Given the description of an element on the screen output the (x, y) to click on. 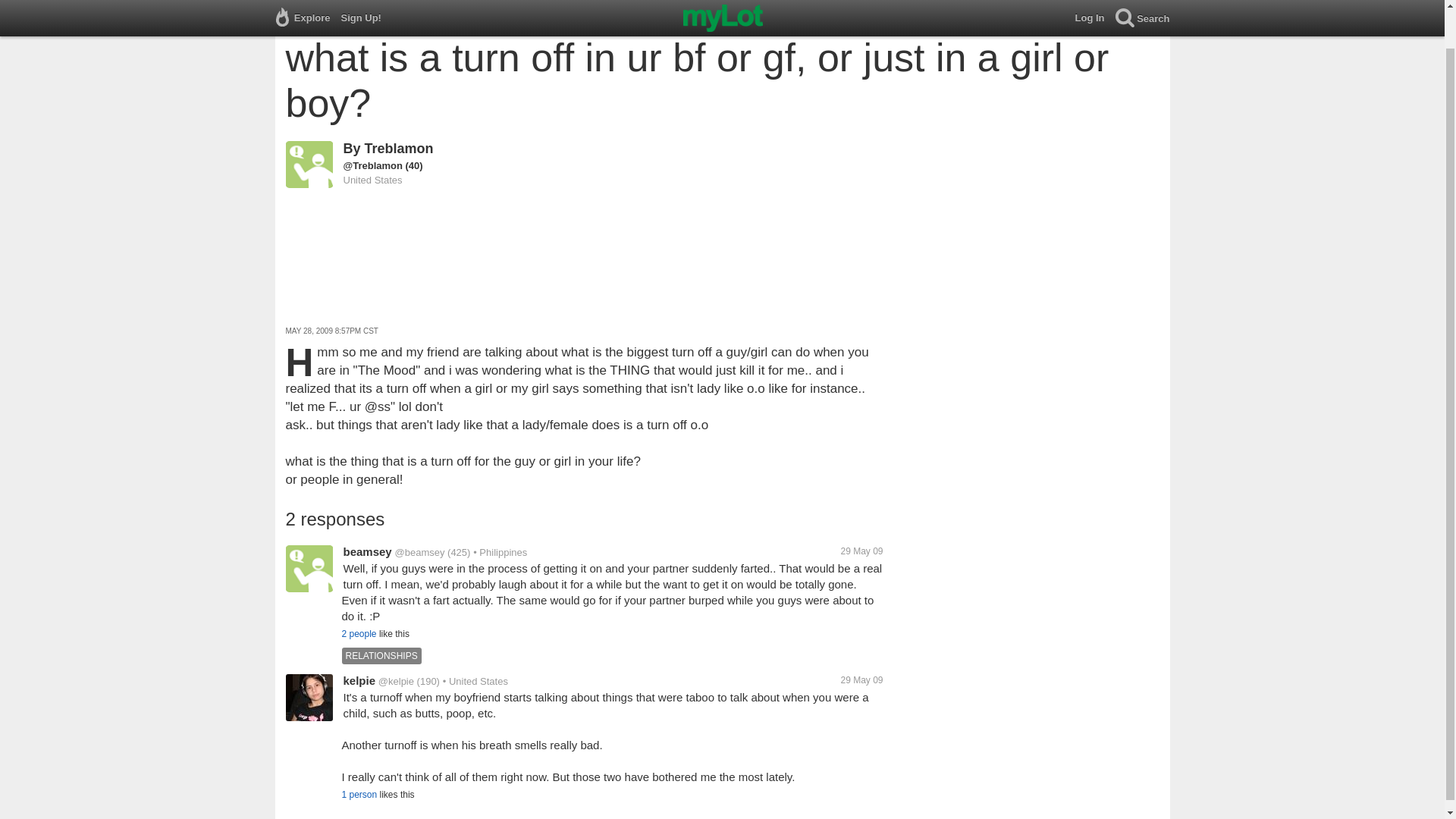
1 person (358, 794)
Treblamon (399, 148)
RELATIONSHIPS (382, 655)
2 people (357, 633)
kelpie (358, 680)
beamsey (366, 551)
